Given the description of an element on the screen output the (x, y) to click on. 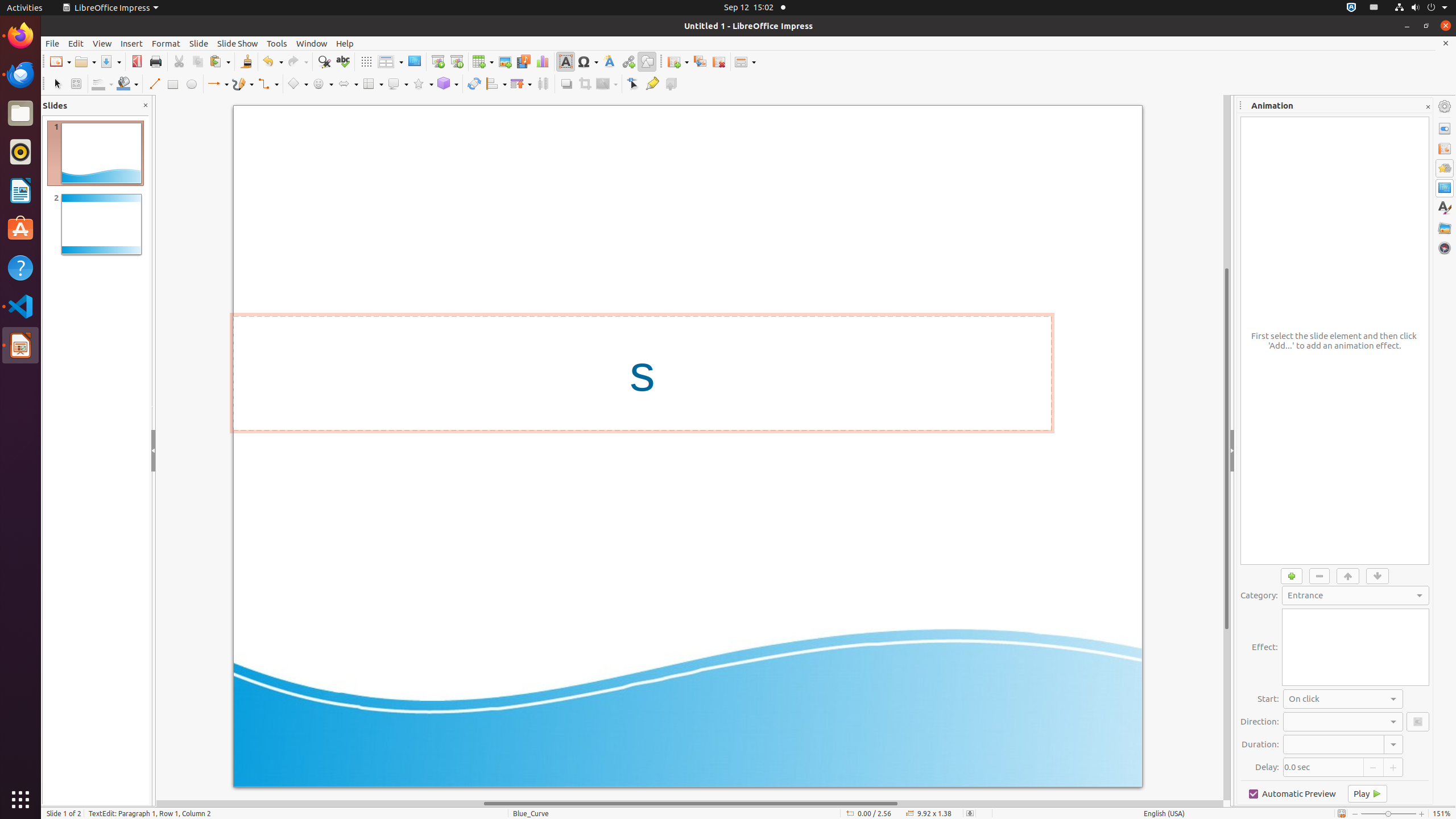
Start from Current Slide Element type: push-button (456, 61)
Start from First Slide Element type: push-button (437, 61)
Glue Points Element type: push-button (651, 83)
Open Element type: push-button (84, 61)
Slide Show Element type: menu (237, 43)
